Given the description of an element on the screen output the (x, y) to click on. 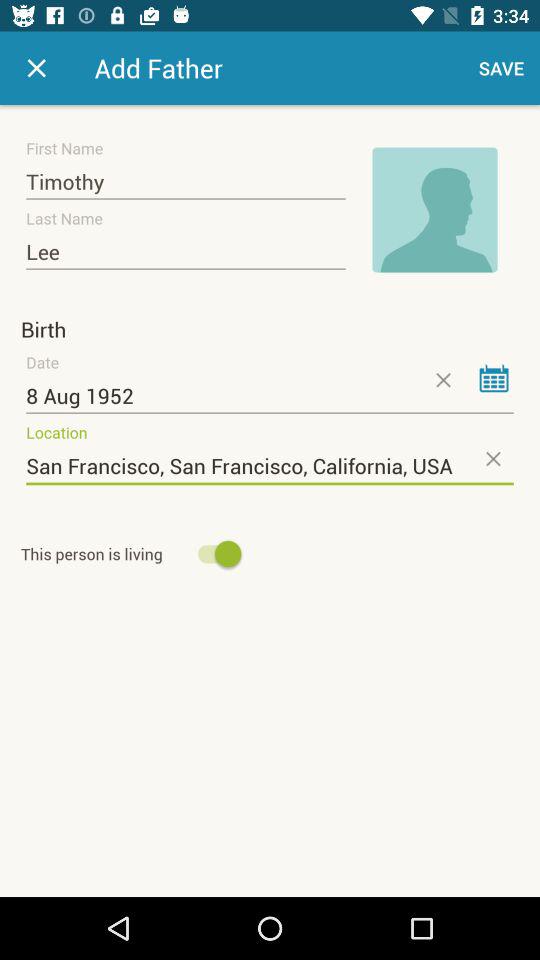
change date calendar (494, 378)
